Given the description of an element on the screen output the (x, y) to click on. 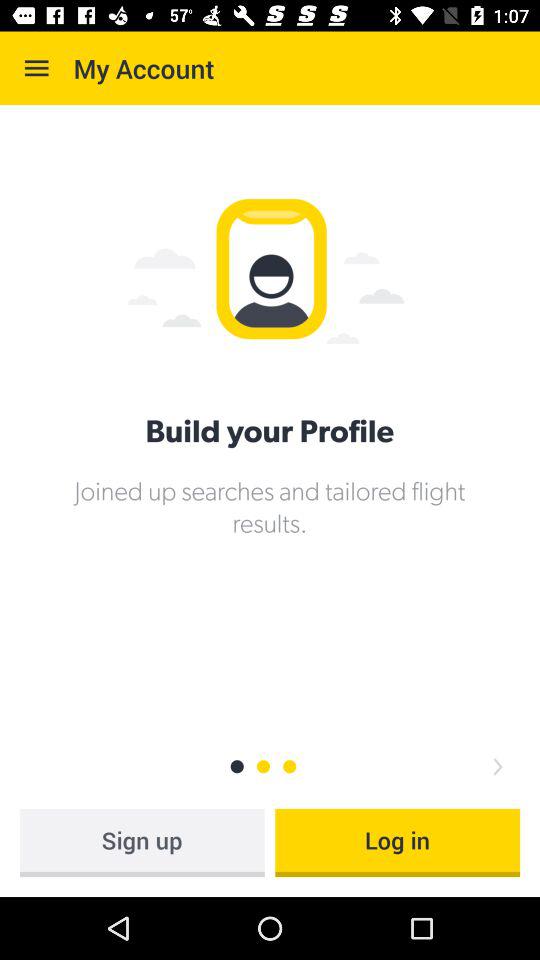
click item next to sign up (397, 842)
